Given the description of an element on the screen output the (x, y) to click on. 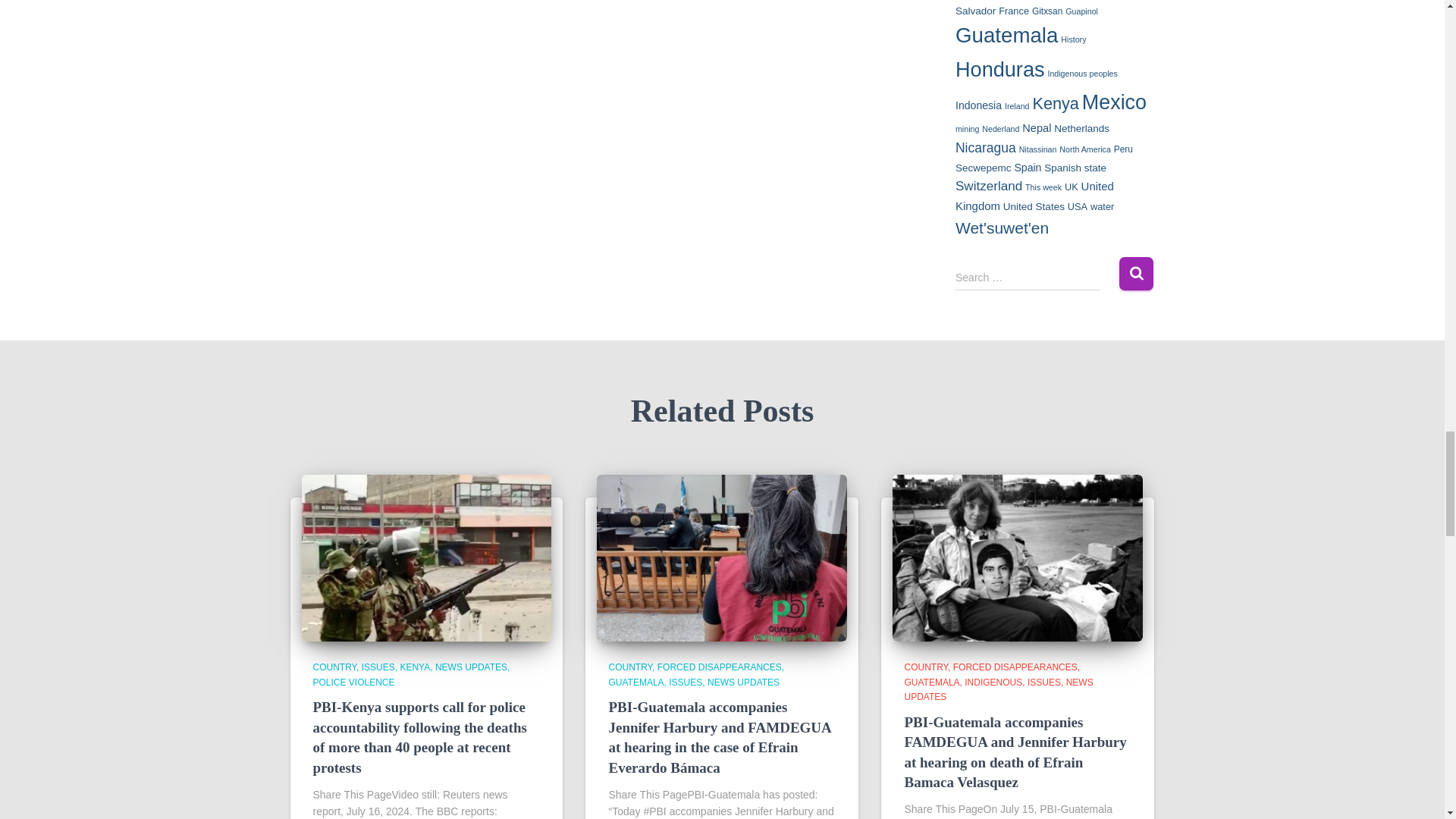
Search (1136, 273)
Search (1136, 273)
